Given the description of an element on the screen output the (x, y) to click on. 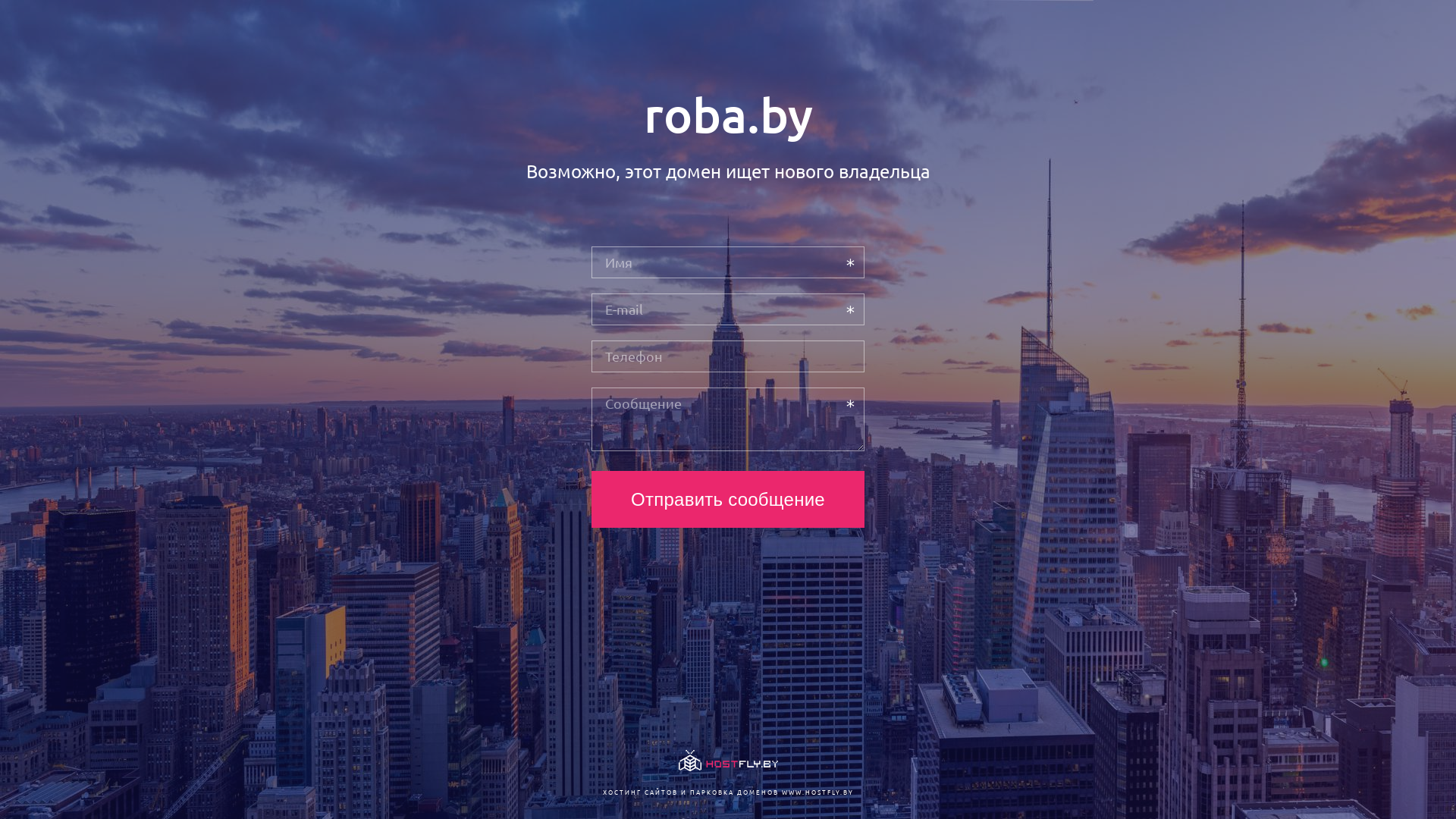
WWW.HOSTFLY.BY Element type: text (817, 791)
